Given the description of an element on the screen output the (x, y) to click on. 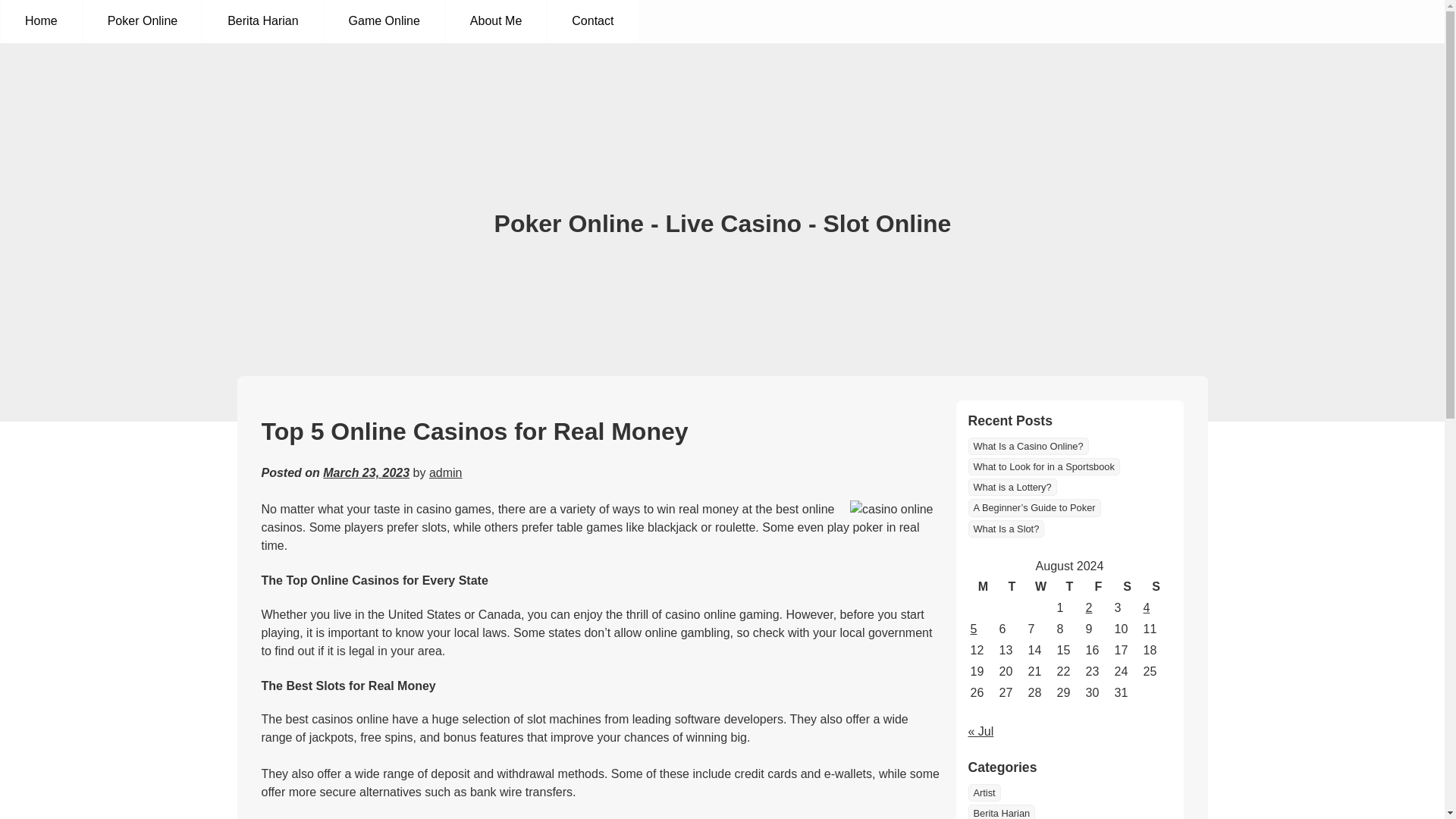
Poker Online (142, 21)
What to Look for in a Sportsbook (1043, 466)
March 23, 2023 (366, 472)
Wednesday (1040, 587)
About Me (495, 21)
admin (446, 472)
Berita Harian (1001, 811)
Thursday (1069, 587)
Sunday (1155, 587)
What Is a Slot? (1005, 528)
